Given the description of an element on the screen output the (x, y) to click on. 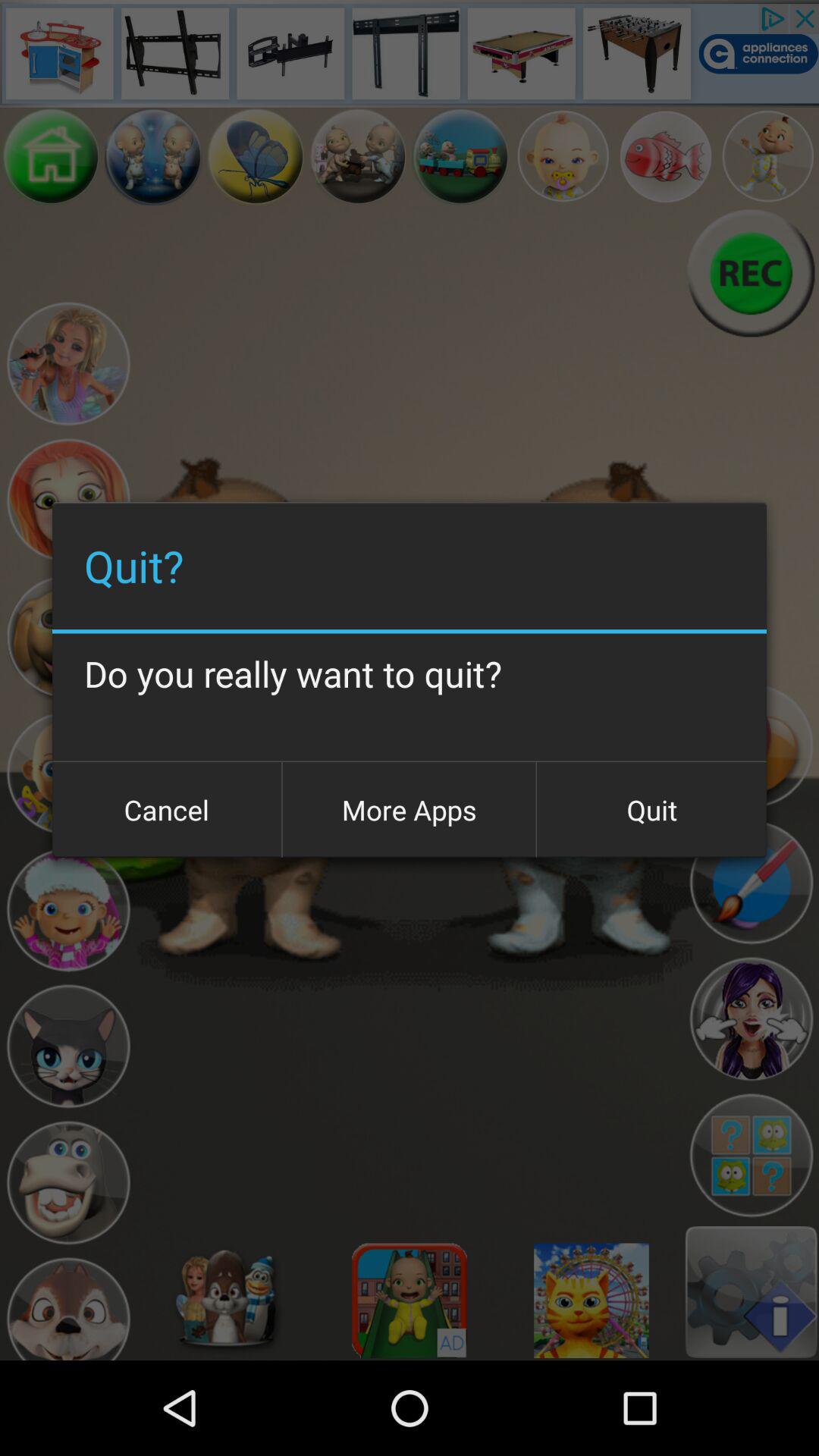
choose the selection (751, 1155)
